Given the description of an element on the screen output the (x, y) to click on. 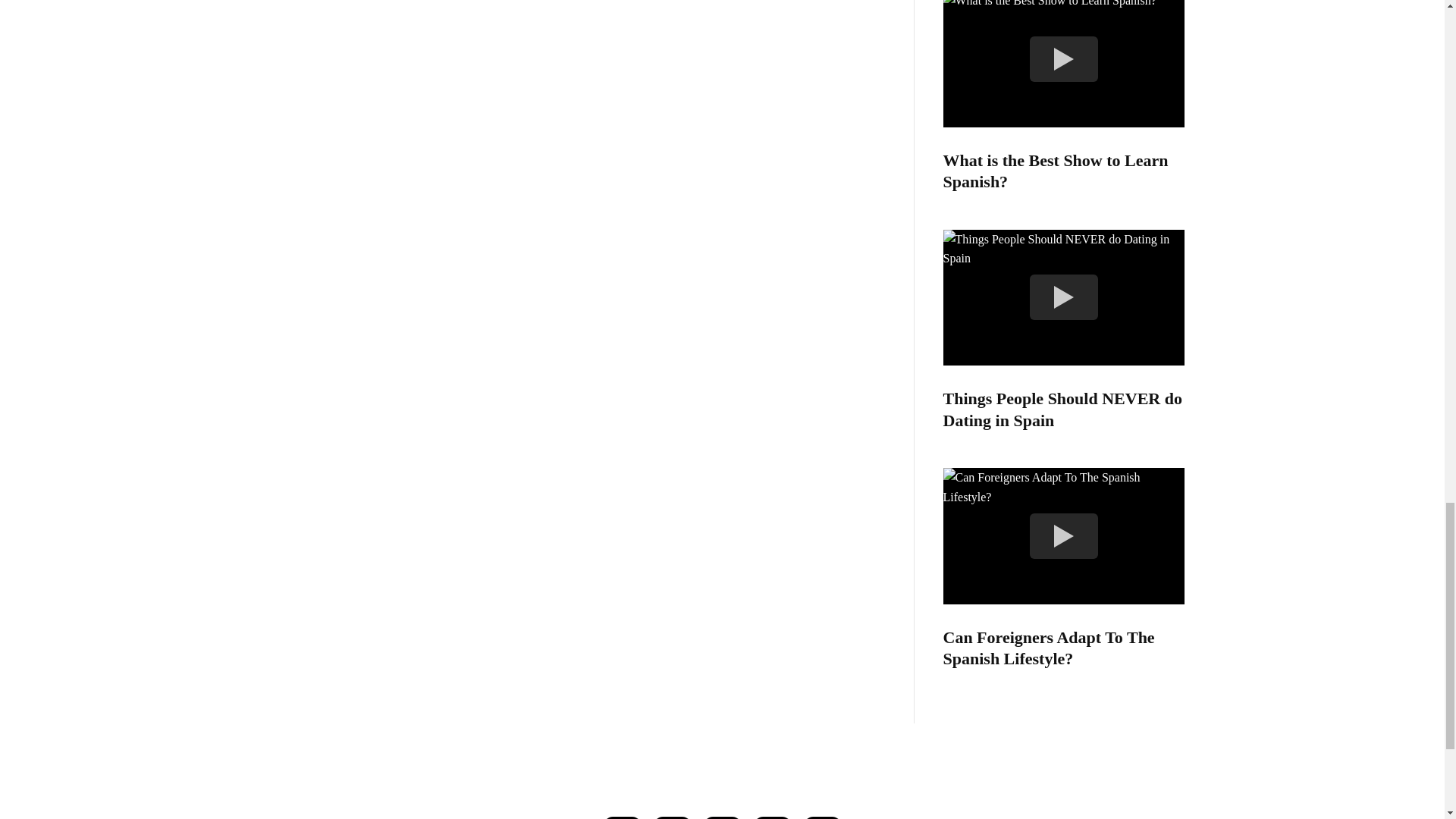
SPANISH (773, 817)
ENGLISH (822, 817)
